Given the description of an element on the screen output the (x, y) to click on. 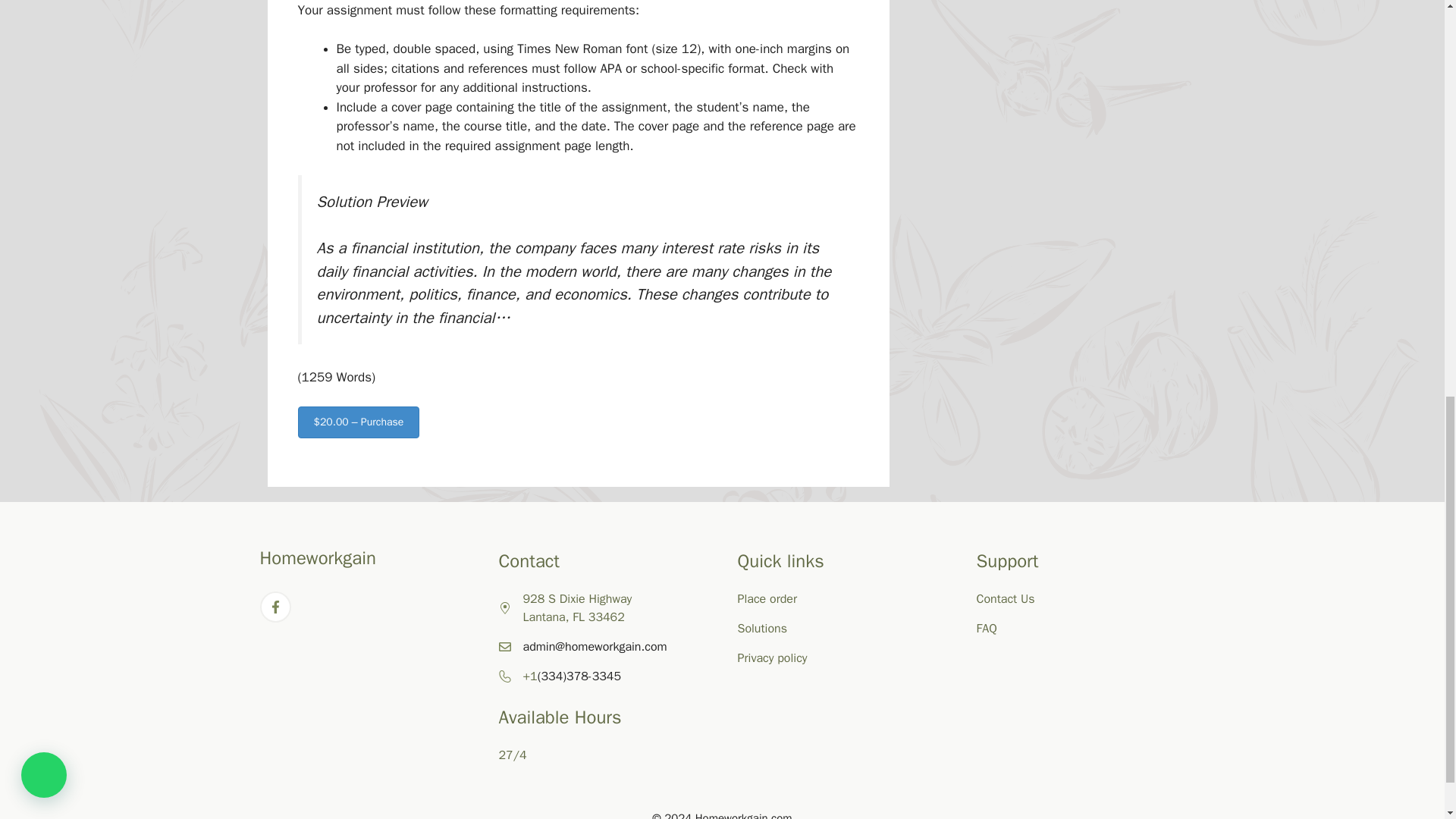
Place order (766, 598)
FAQ (986, 627)
Privacy policy (771, 657)
Contact Us (1005, 598)
Scroll back to top (1406, 720)
Solutions (761, 627)
